Given the description of an element on the screen output the (x, y) to click on. 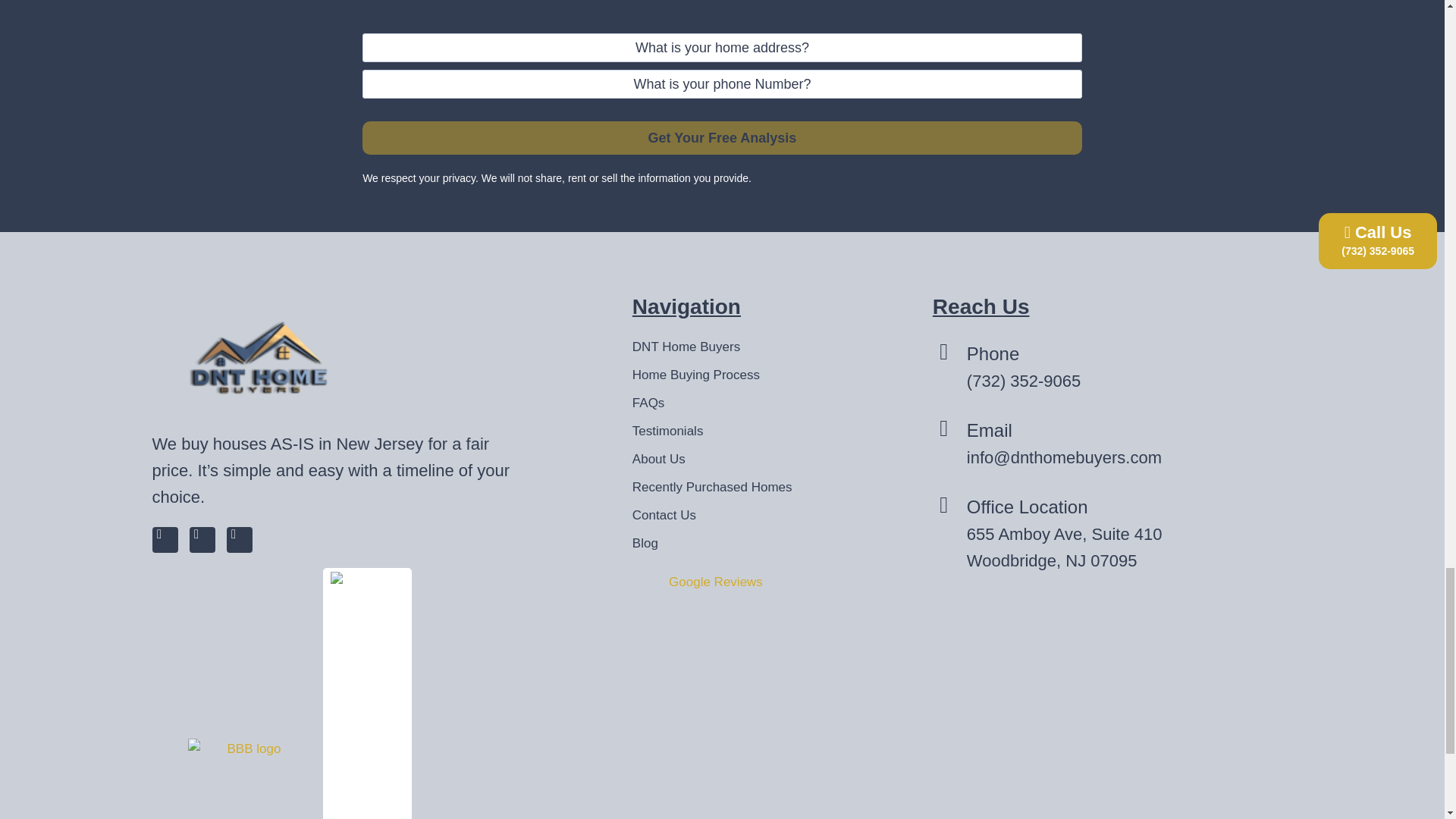
DNT Home Buyers (721, 346)
Get Your Free Analysis (721, 137)
